Given the description of an element on the screen output the (x, y) to click on. 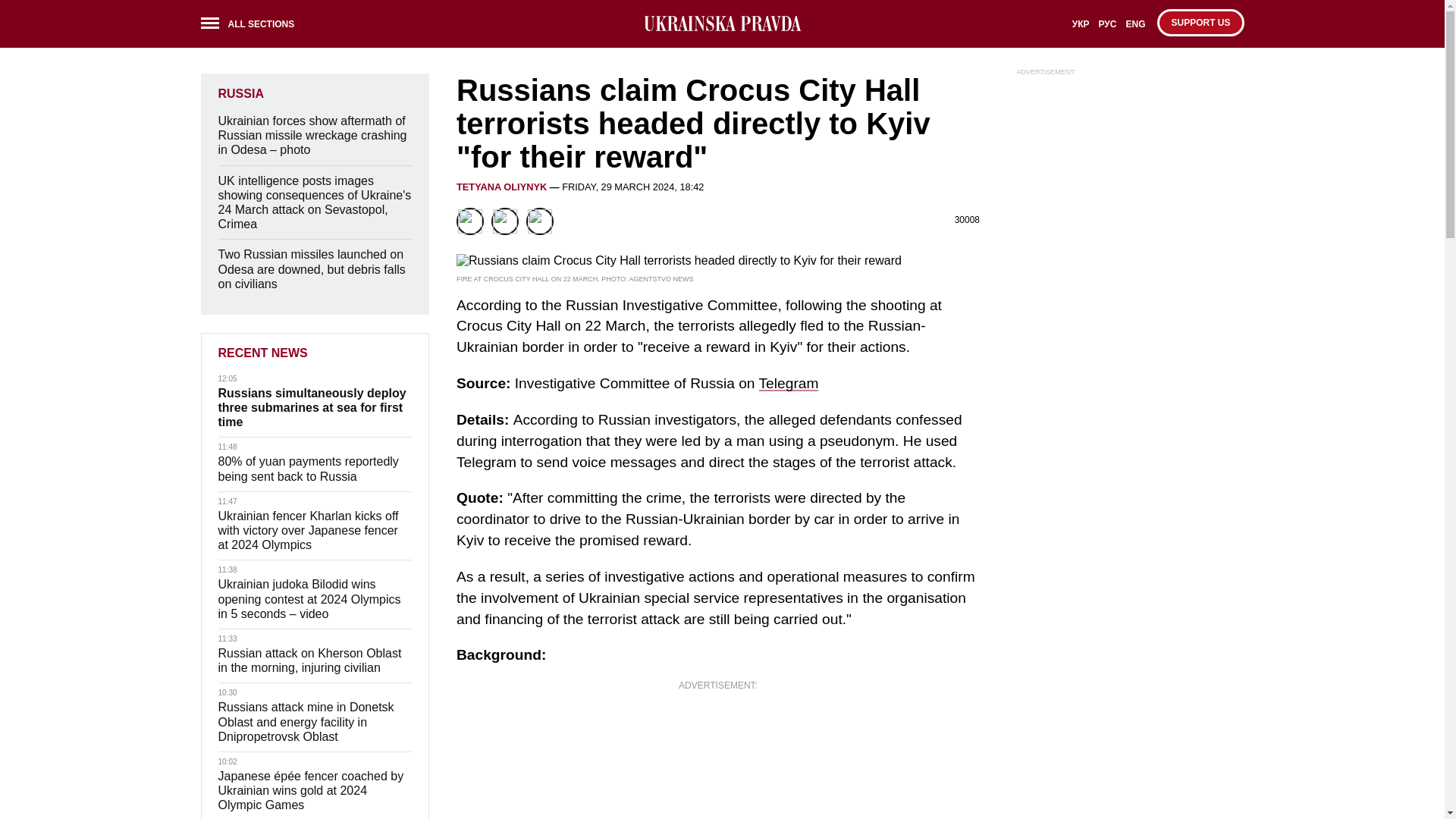
Ukrainska pravda (722, 23)
TETYANA OLIYNYK (502, 186)
ALL SECTIONS (251, 26)
SUPPORT US (1200, 22)
Ukrainska pravda (722, 24)
Telegram (788, 383)
ENG (1135, 28)
